Given the description of an element on the screen output the (x, y) to click on. 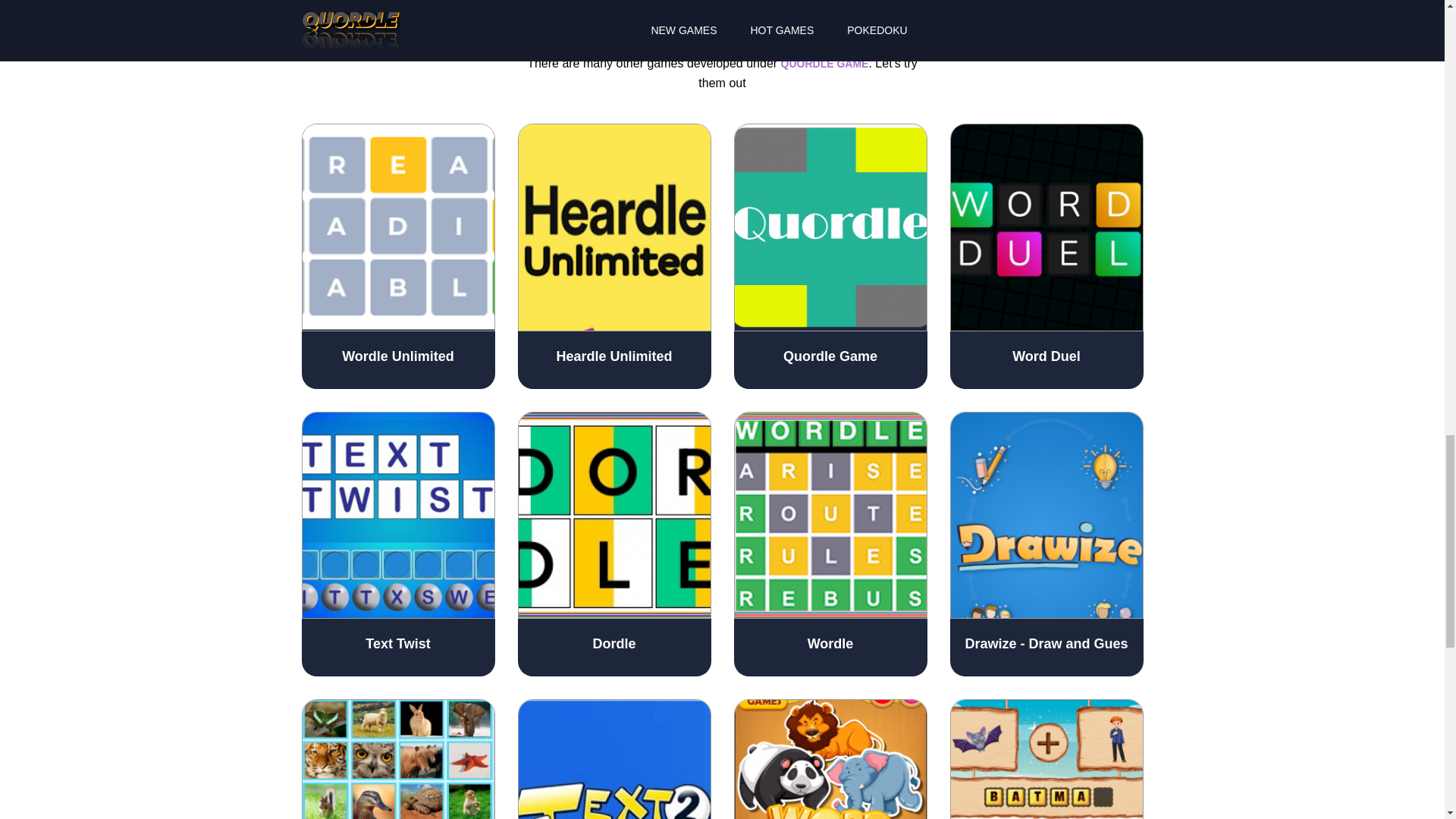
Picsword Puzzles 2 (1045, 759)
Play EG Pic Quiz (398, 759)
Play Picsword Puzzles 2 (1045, 759)
Text Twist 2 (613, 759)
Play Word Puzz (830, 759)
EG Pic Quiz (398, 759)
Word Puzz (830, 759)
Play Text Twist 2 (613, 759)
